Given the description of an element on the screen output the (x, y) to click on. 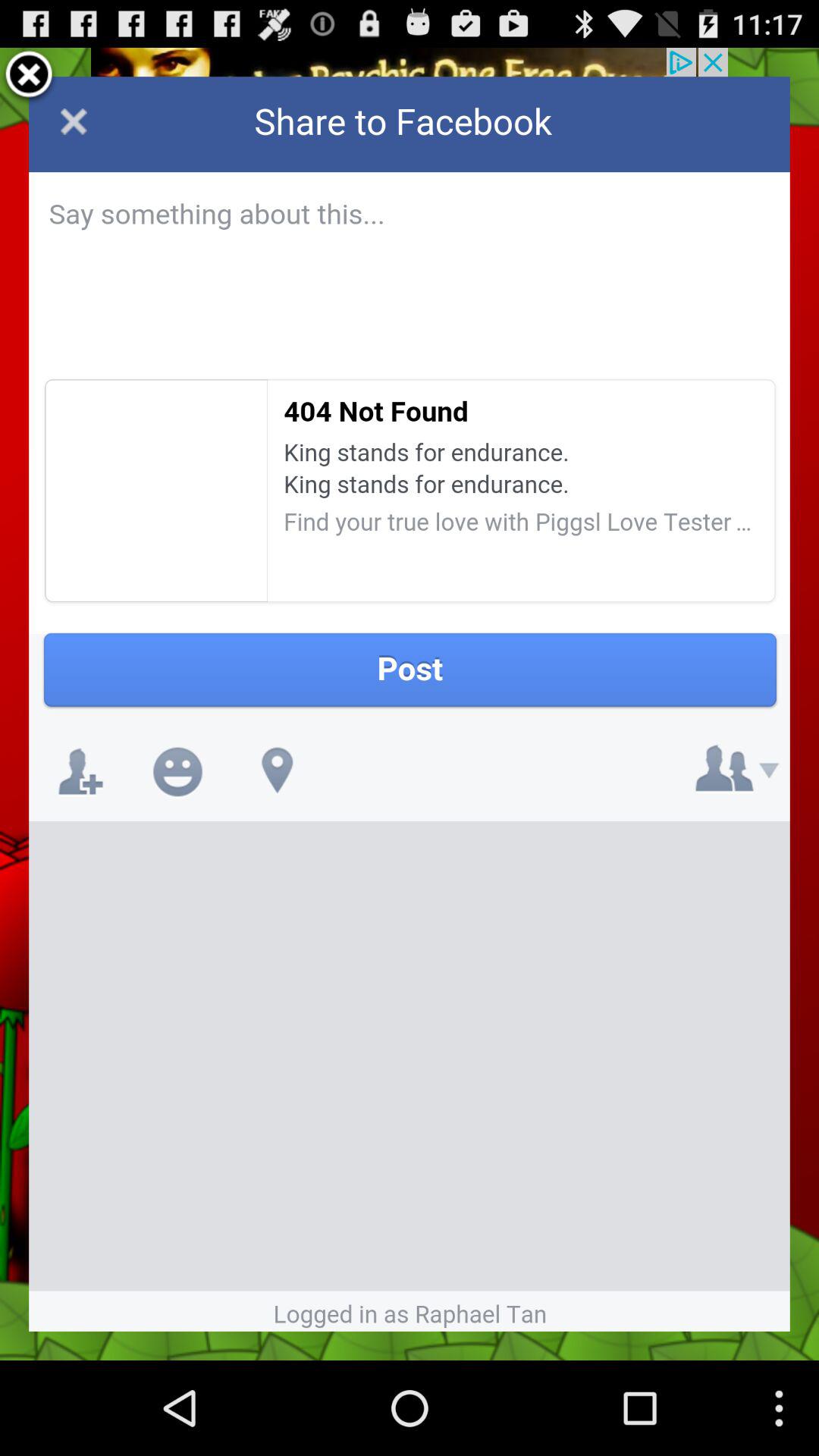
exit (29, 76)
